Given the description of an element on the screen output the (x, y) to click on. 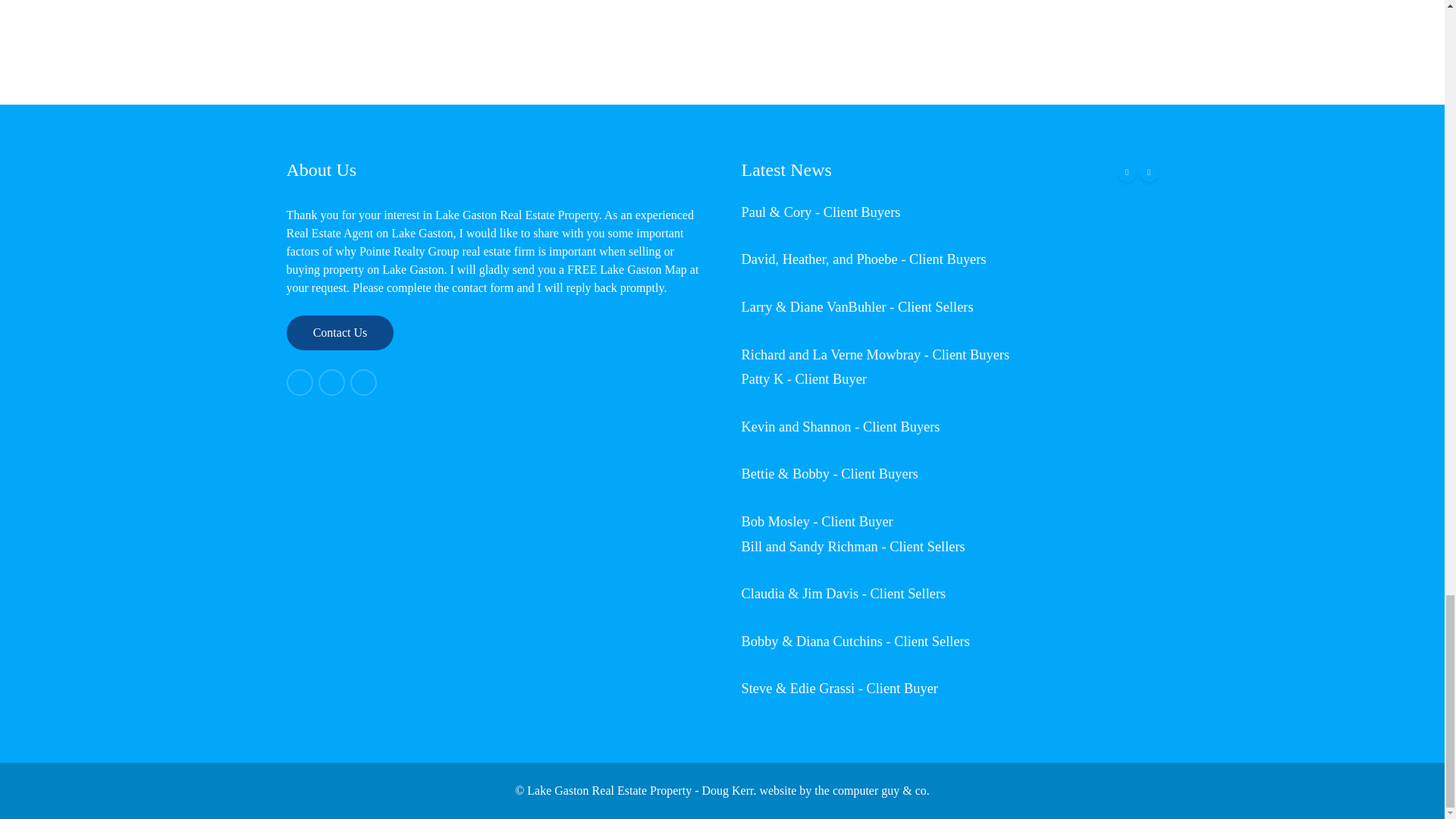
Patty K - Client Buyer (804, 378)
Contact Us (340, 332)
Richard and La Verne Mowbray - Client Buyers (875, 354)
Bob Mosley - Client Buyer (817, 521)
Kevin and Shannon - Client Buyers (840, 426)
Bill and Sandy Richman - Client Sellers (853, 546)
Twitter (331, 382)
Linkedin (363, 382)
David, Heather, and Phoebe - Client Buyers (864, 258)
Facebook (299, 382)
